Given the description of an element on the screen output the (x, y) to click on. 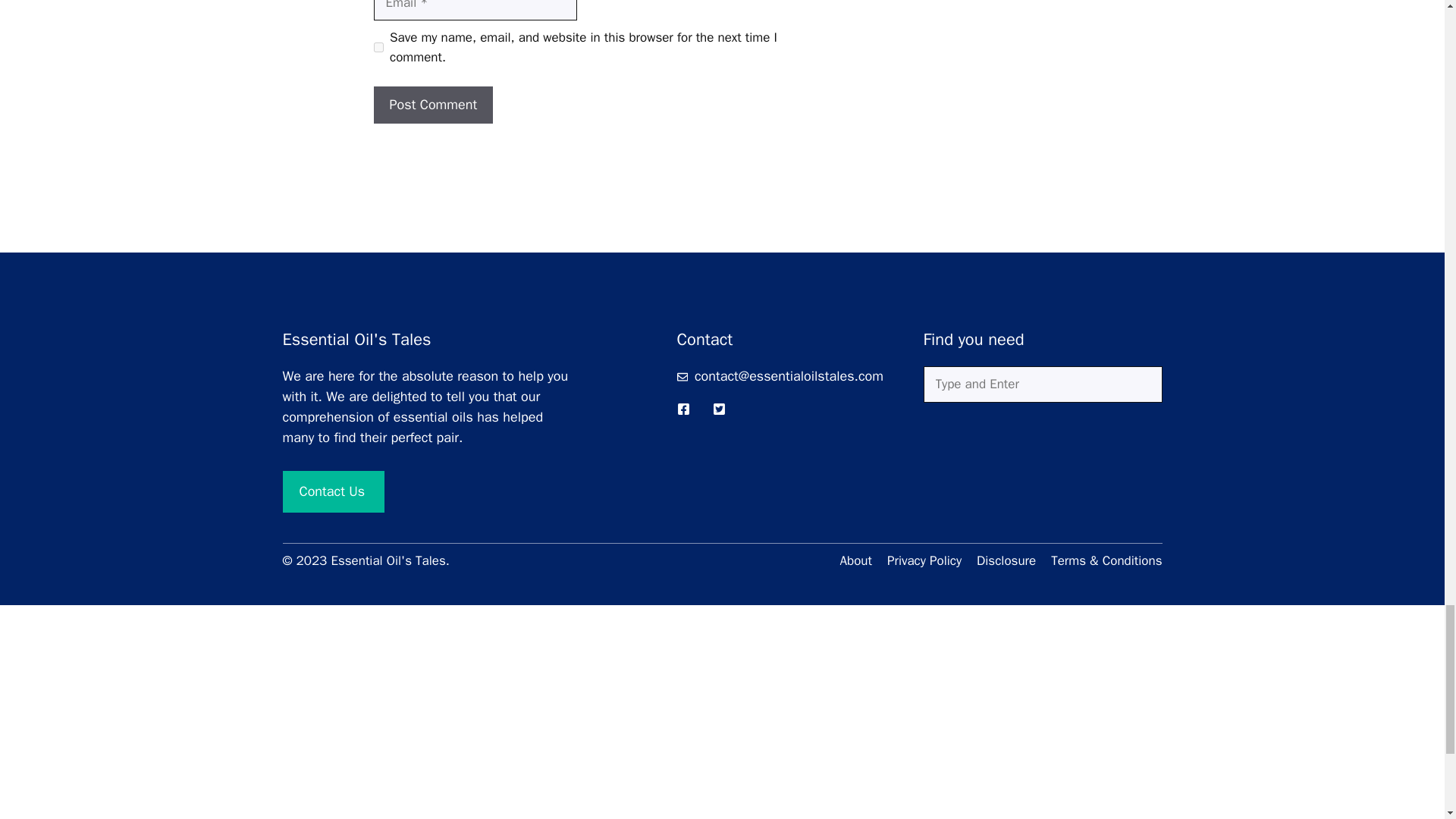
About (856, 560)
Disclosure (1005, 560)
yes (377, 47)
Contact Us (333, 491)
Post Comment (432, 104)
Post Comment (432, 104)
Privacy Policy (923, 560)
